Given the description of an element on the screen output the (x, y) to click on. 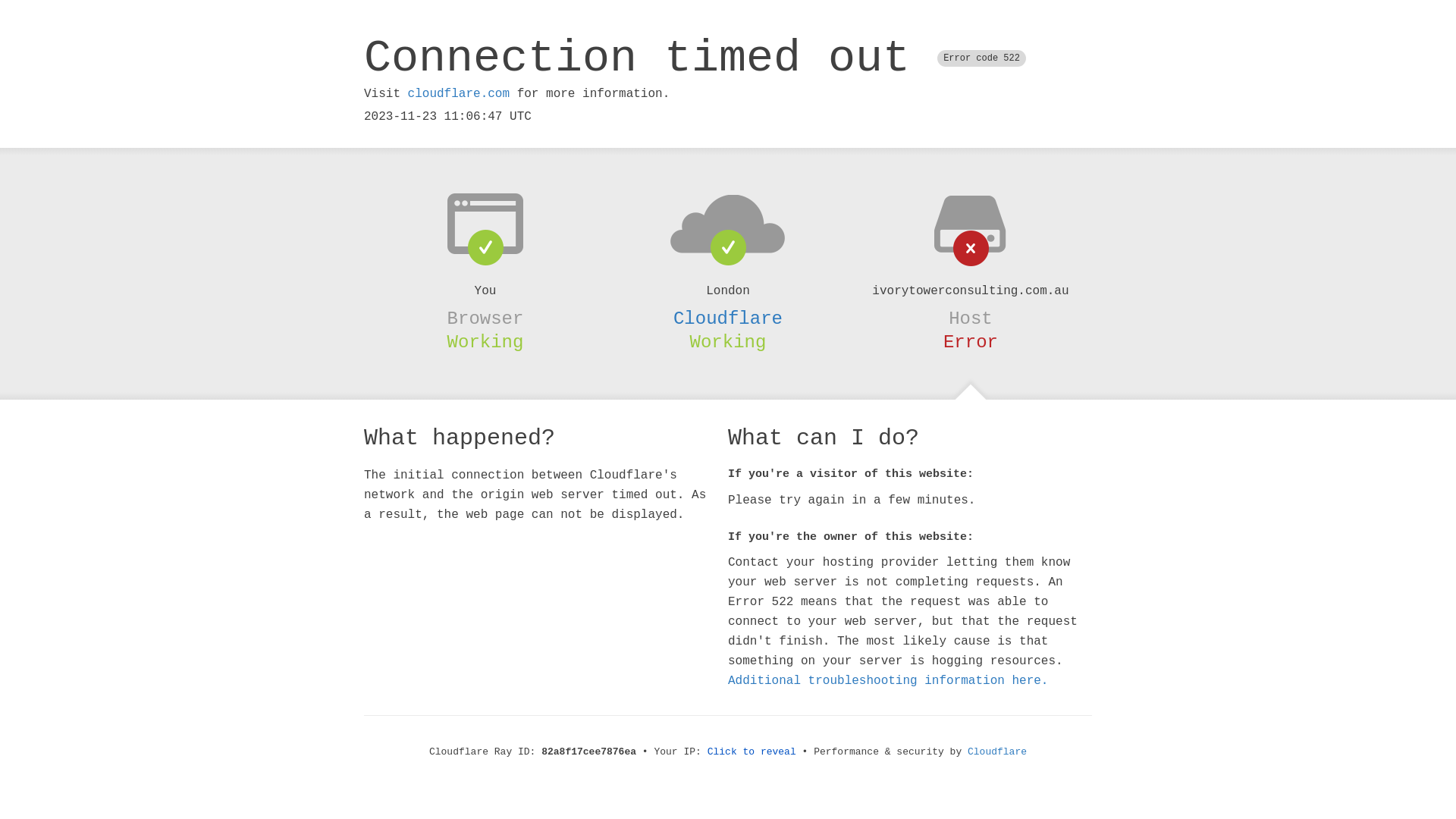
Additional troubleshooting information here. Element type: text (888, 680)
cloudflare.com Element type: text (458, 93)
Cloudflare Element type: text (727, 318)
Cloudflare Element type: text (996, 751)
Click to reveal Element type: text (751, 751)
